Given the description of an element on the screen output the (x, y) to click on. 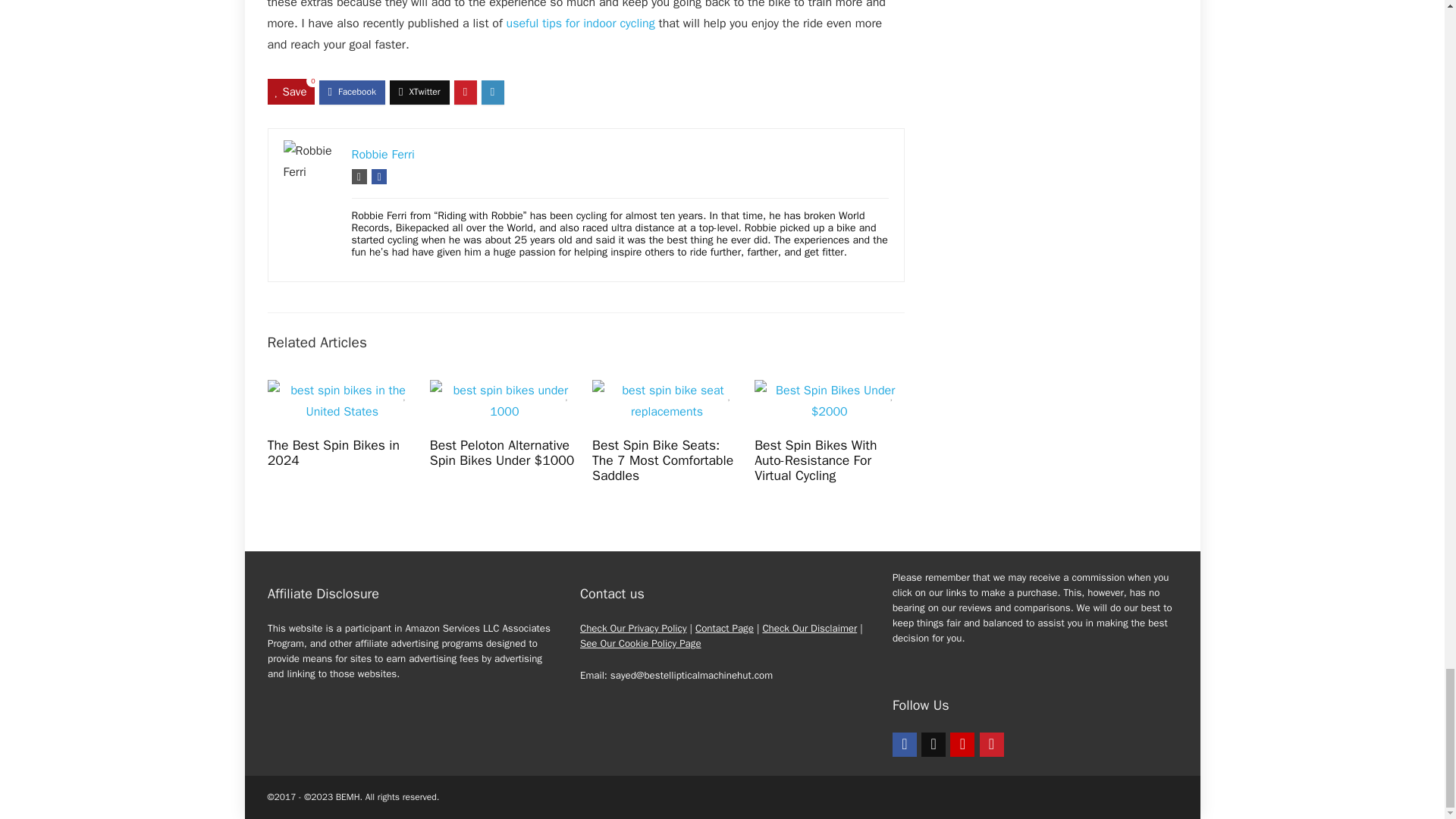
Youtube (962, 744)
Facebook (904, 744)
useful tips for indoor cycling (580, 23)
Best Spin Bike Seats: The 7 Most Comfortable Saddles (662, 460)
Robbie Ferri (383, 154)
twitter (932, 744)
The Best Spin Bikes in 2024 (332, 452)
Pinterest (991, 744)
